Given the description of an element on the screen output the (x, y) to click on. 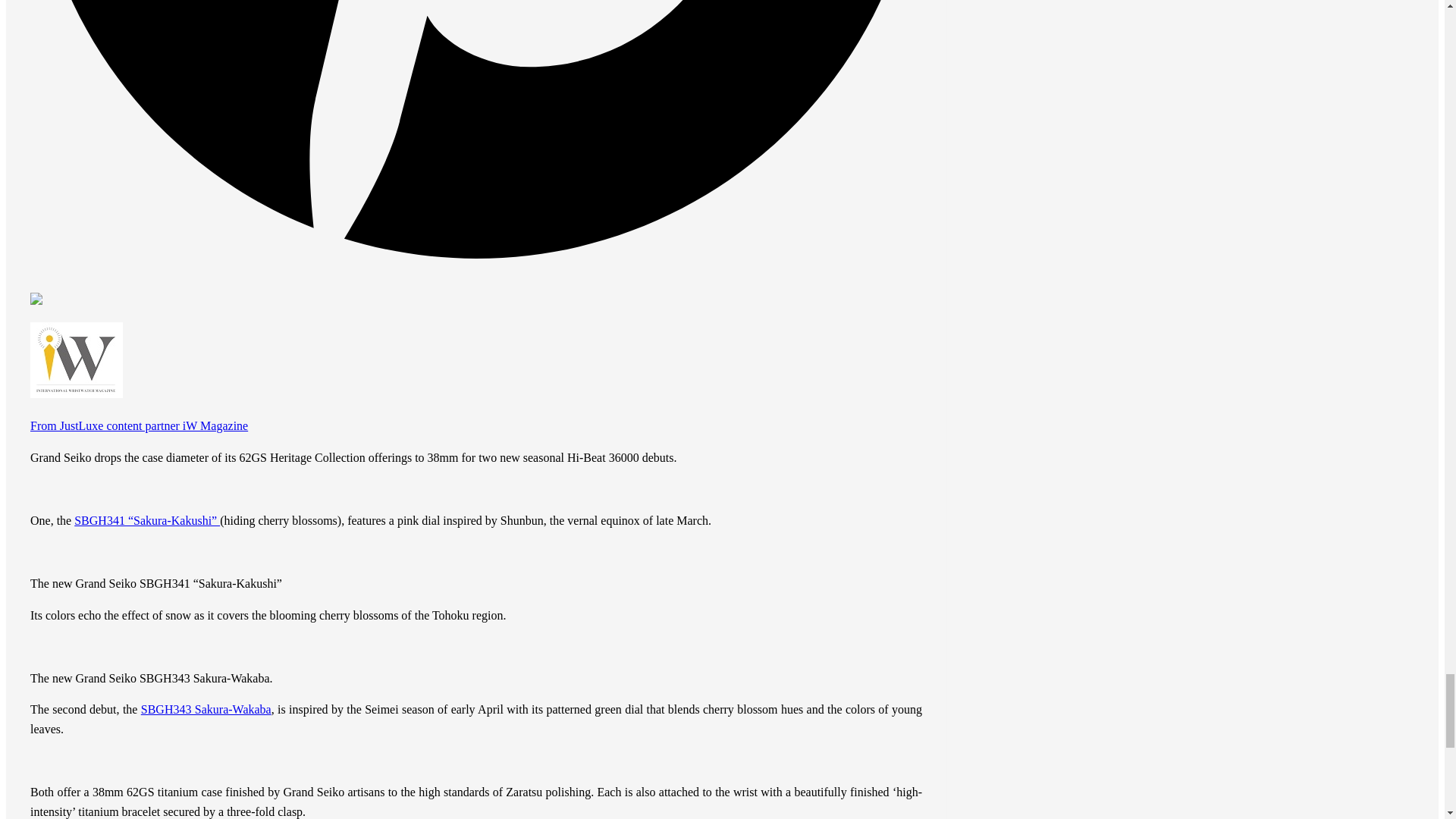
From JustLuxe content partner iW Magazine (138, 425)
SBGH343 Sakura-Wakaba (205, 708)
